Given the description of an element on the screen output the (x, y) to click on. 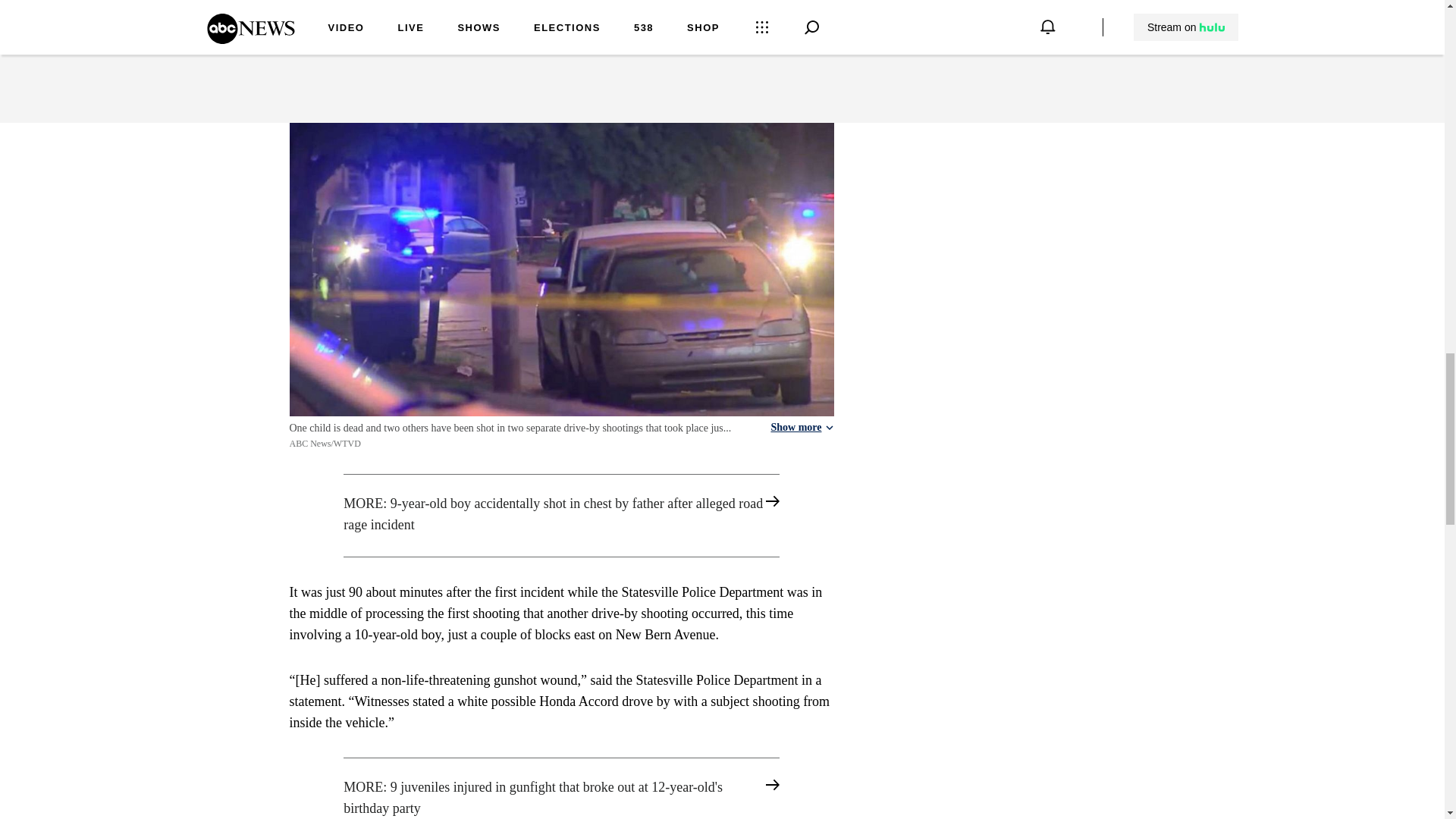
Show more (801, 427)
